Given the description of an element on the screen output the (x, y) to click on. 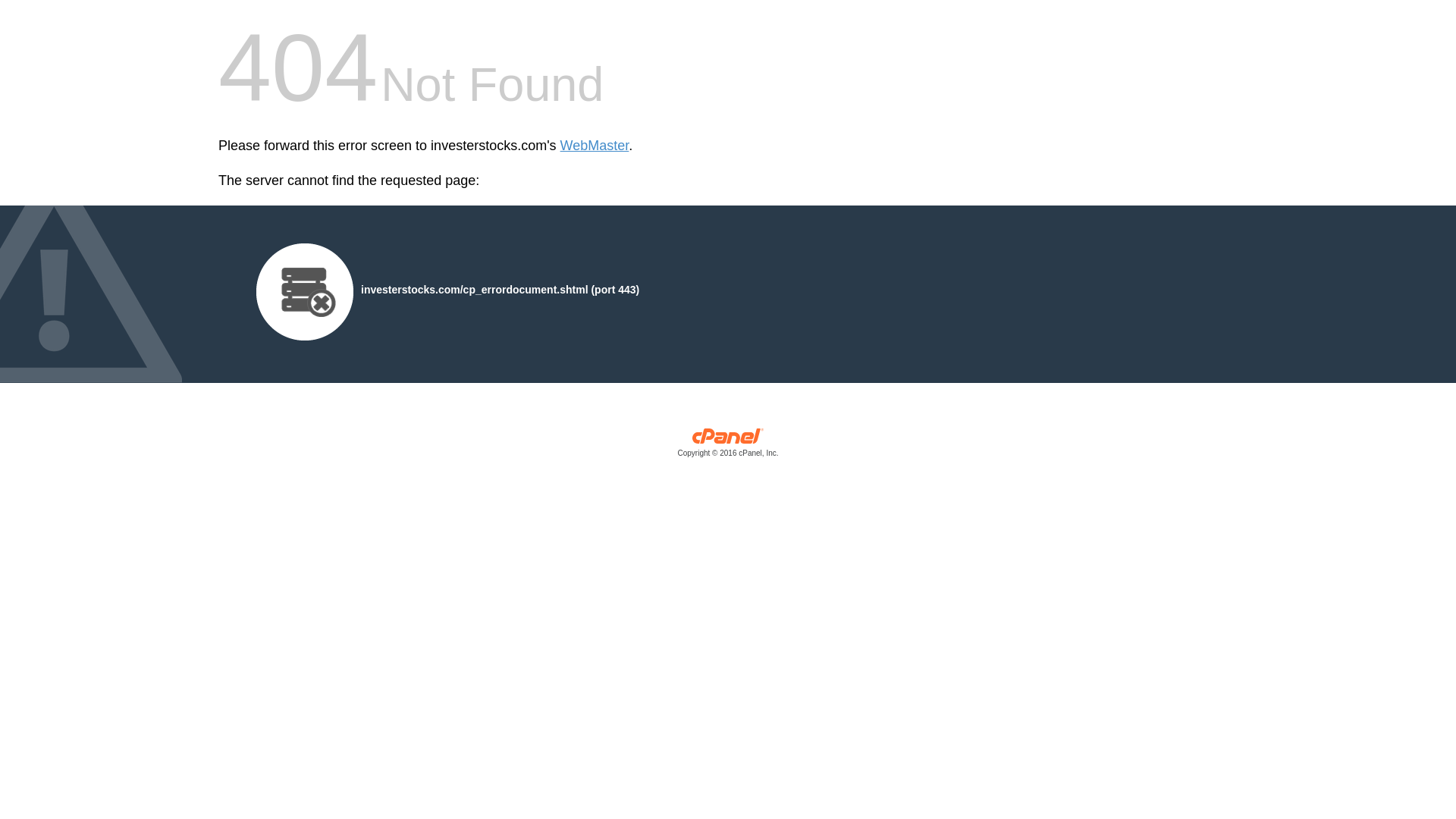
cPanel, Inc. (727, 446)
WebMaster (594, 145)
